Given the description of an element on the screen output the (x, y) to click on. 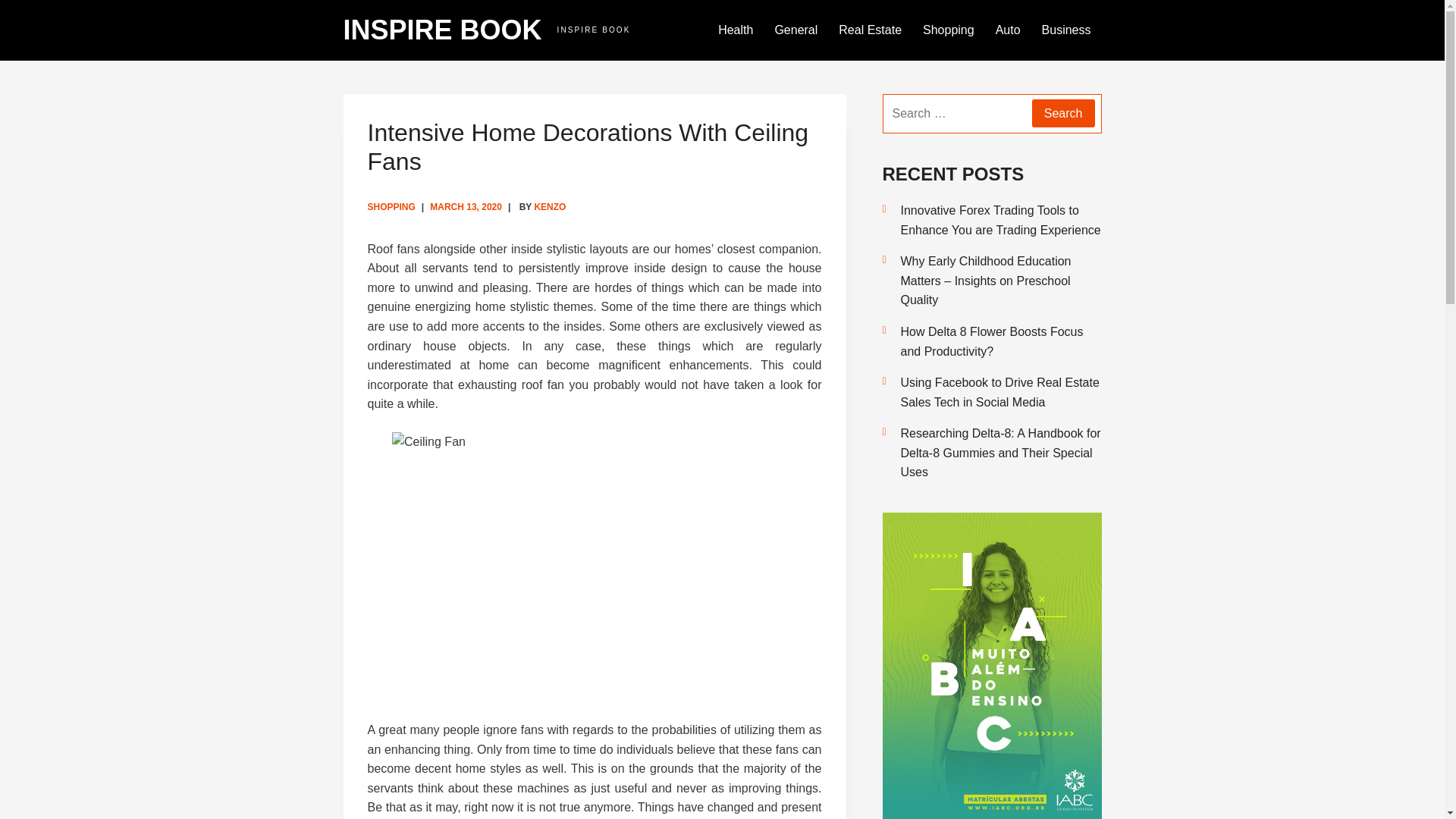
Shopping (948, 30)
Search (1063, 113)
General (795, 30)
Search (1063, 113)
Real Estate (870, 30)
MARCH 13, 2020 (465, 206)
Search (1063, 113)
KENZO (550, 206)
Health (734, 30)
SHOPPING (390, 206)
